Given the description of an element on the screen output the (x, y) to click on. 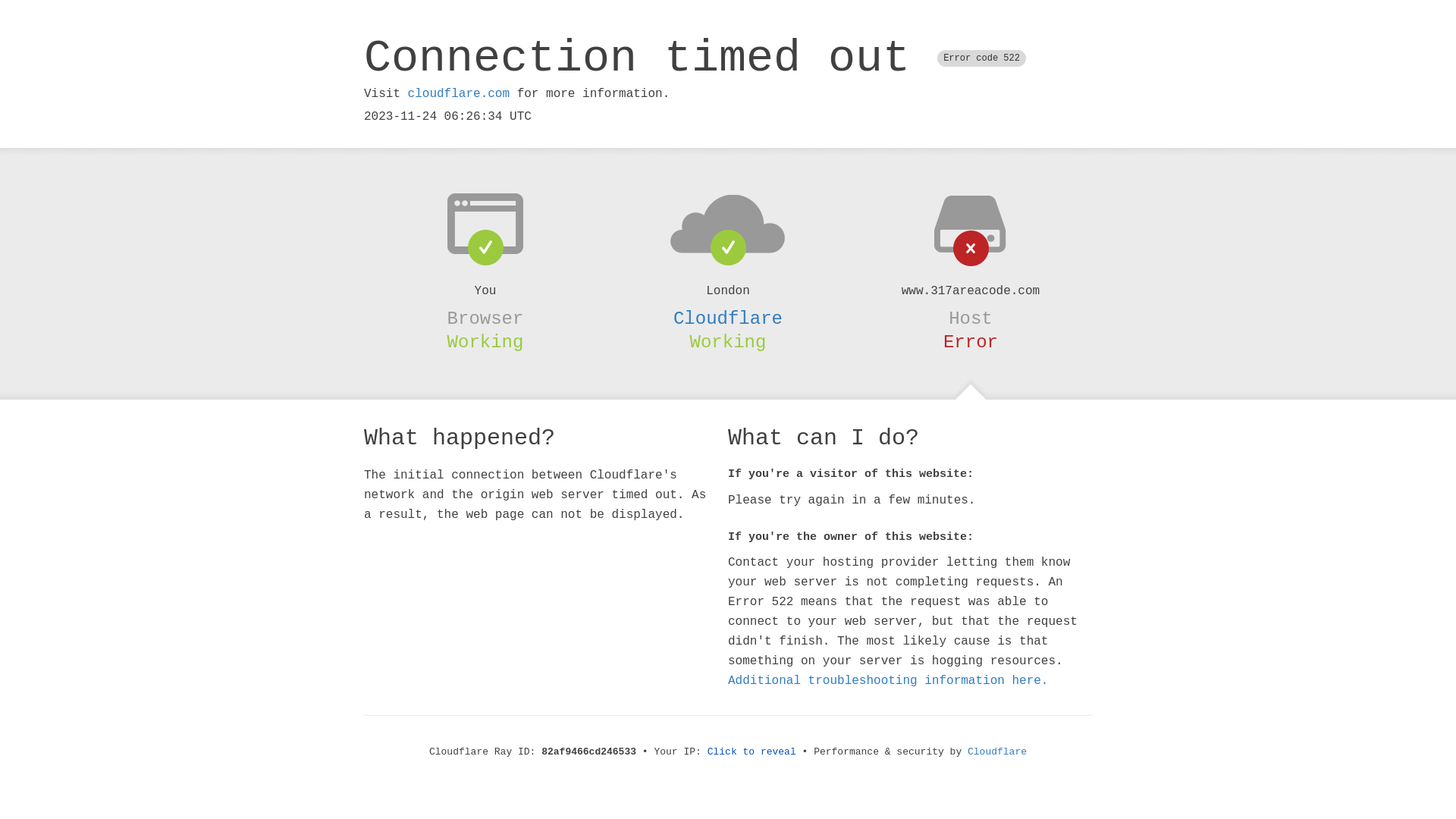
Additional troubleshooting information here. Element type: text (888, 680)
cloudflare.com Element type: text (458, 93)
Click to reveal Element type: text (751, 751)
Cloudflare Element type: text (727, 318)
Cloudflare Element type: text (996, 751)
